Given the description of an element on the screen output the (x, y) to click on. 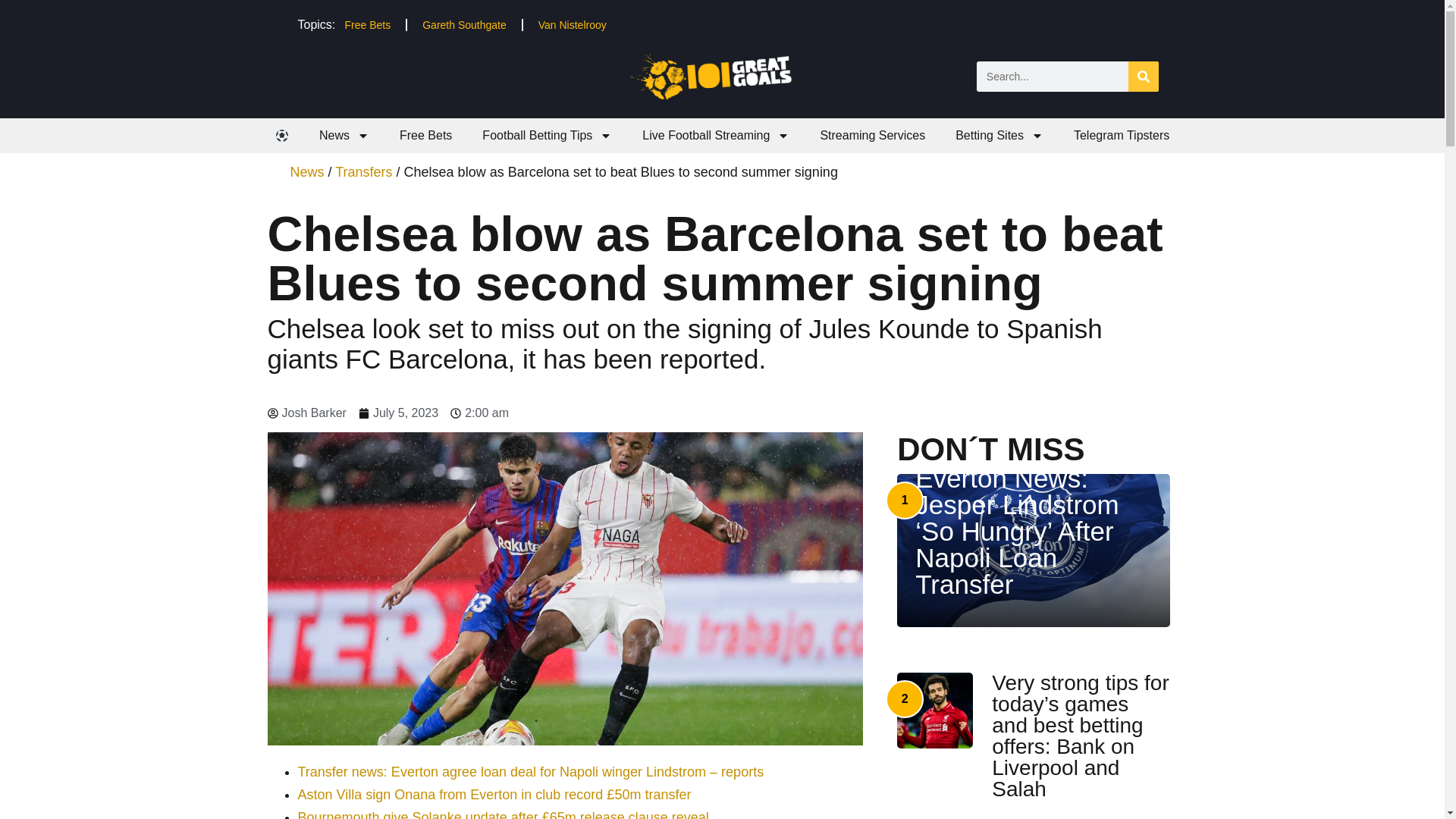
News (344, 135)
Live Football Streaming (716, 135)
Van Nistelrooy (571, 24)
Free Bets (425, 135)
Streaming Services (872, 135)
Gareth Southgate (464, 24)
Football Betting Tips (547, 135)
Free Bets (367, 24)
Betting Sites (999, 135)
